Given the description of an element on the screen output the (x, y) to click on. 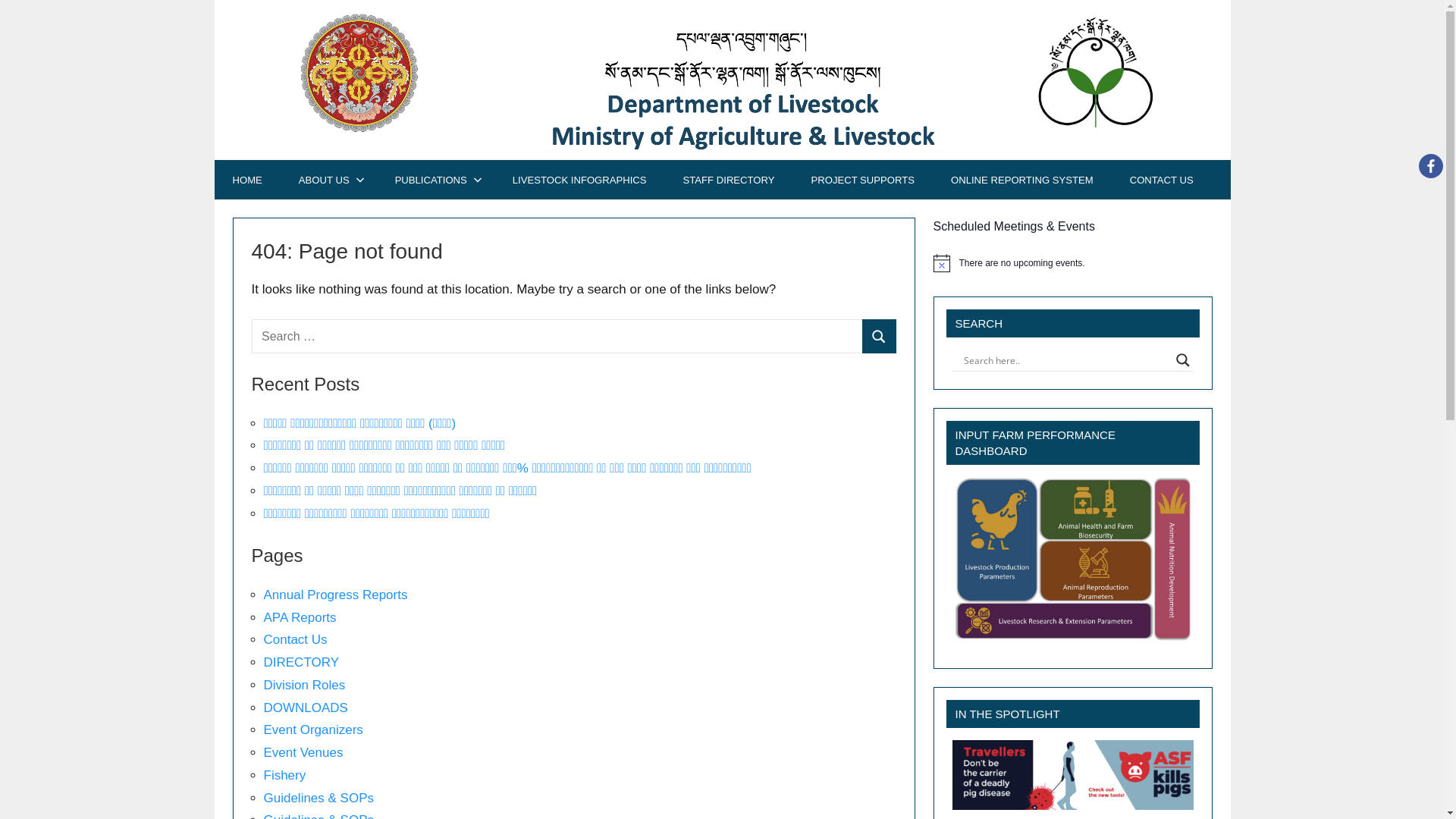
Event Organizers Element type: text (313, 729)
Fishery Element type: text (284, 775)
ONLINE REPORTING SYSTEM Element type: text (1021, 179)
CONTACT US Element type: text (1161, 179)
Input Farm Performance Dashboard Element type: hover (1072, 559)
Event Venues Element type: text (303, 752)
Guidelines & SOPs Element type: text (318, 797)
STAFF DIRECTORY Element type: text (729, 179)
Contact Us Element type: text (295, 639)
Annual Progress Reports Element type: text (335, 594)
HOME Element type: text (246, 179)
PROJECT SUPPORTS Element type: text (862, 179)
PUBLICATIONS Element type: text (435, 179)
Skip to content Element type: text (213, 0)
APA Reports Element type: text (299, 617)
Search for: Element type: hover (556, 336)
DIRECTORY Element type: text (301, 662)
DOWNLOADS Element type: text (305, 707)
Division Roles Element type: text (304, 684)
Facebook Element type: hover (1430, 165)
LIVESTOCK INFOGRAPHICS Element type: text (579, 179)
In the Spotlight Element type: hover (1072, 774)
ABOUT US Element type: text (328, 179)
